Given the description of an element on the screen output the (x, y) to click on. 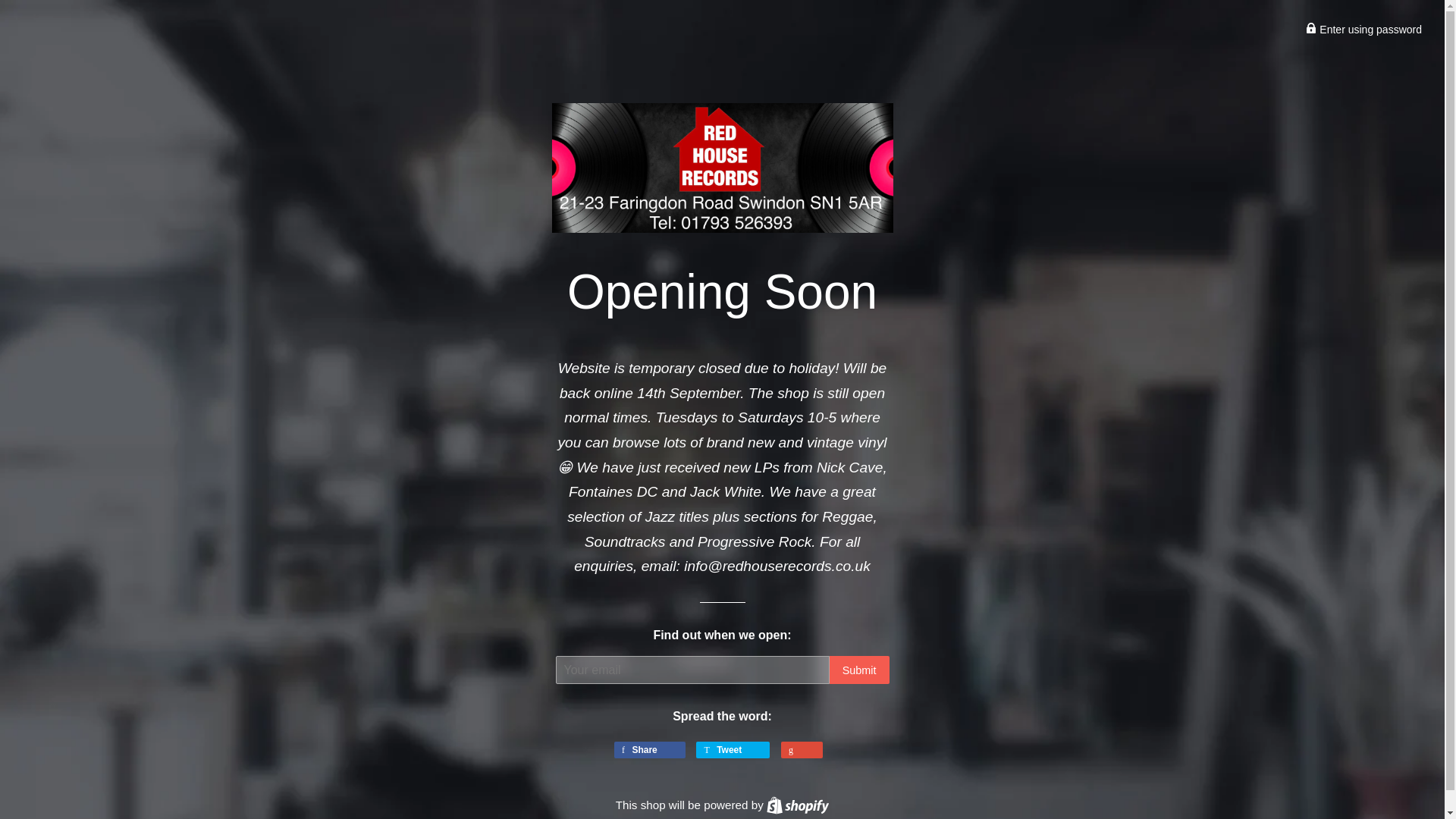
Shopify logo (797, 805)
Create your own online store with Shopify (797, 804)
Share (649, 750)
Submit (797, 804)
Submit (859, 669)
Tweet (859, 669)
Lock icon Enter using password (732, 750)
Lock icon (1364, 29)
